Given the description of an element on the screen output the (x, y) to click on. 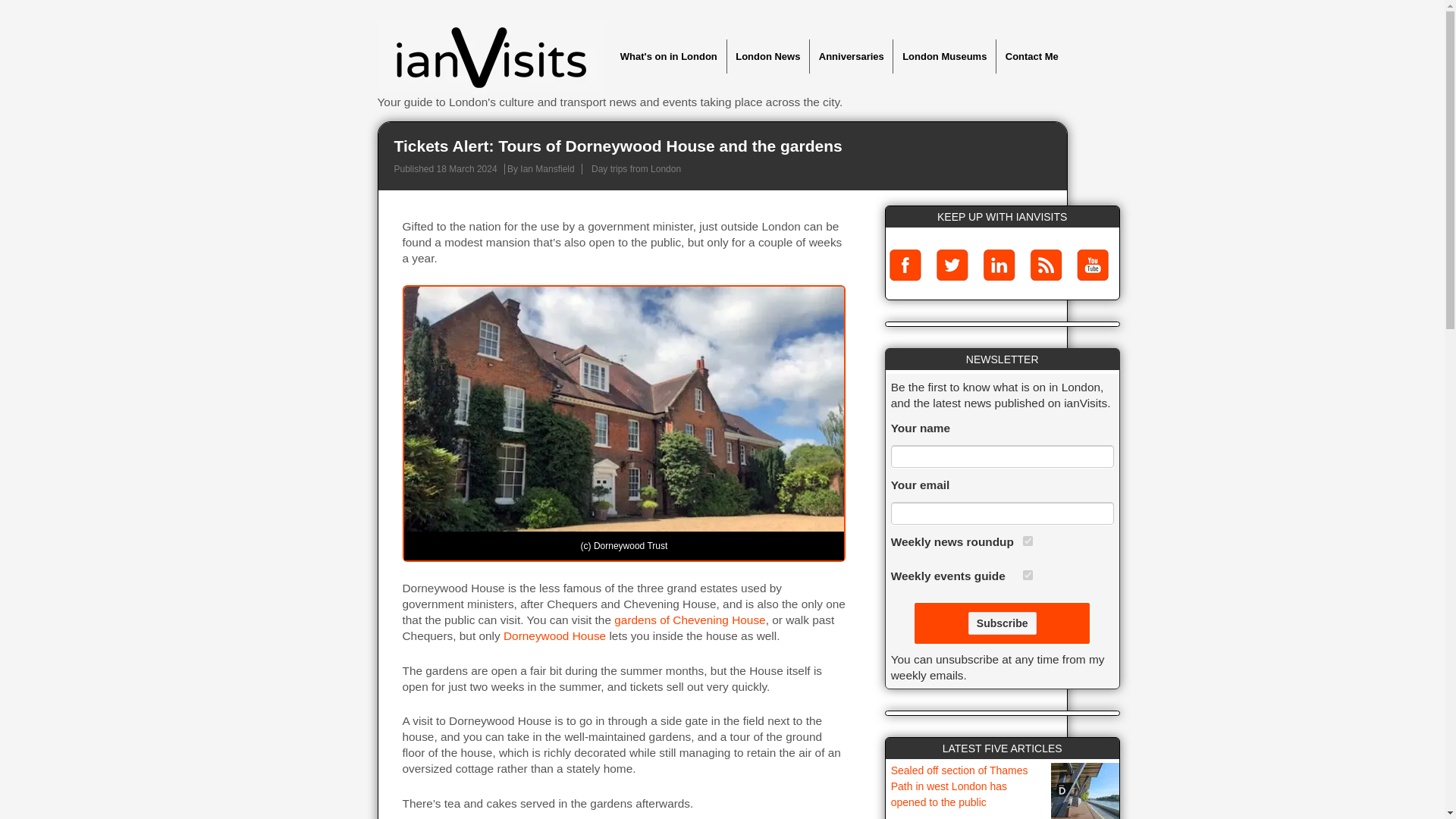
Subscribe (1002, 622)
yes (1027, 574)
Anniversaries (850, 56)
Day trips from London (636, 168)
London News (767, 56)
London Museums (943, 56)
Contact Me (1031, 56)
Ian Mansfield (546, 168)
yes (1027, 541)
What's on in London (668, 56)
